Given the description of an element on the screen output the (x, y) to click on. 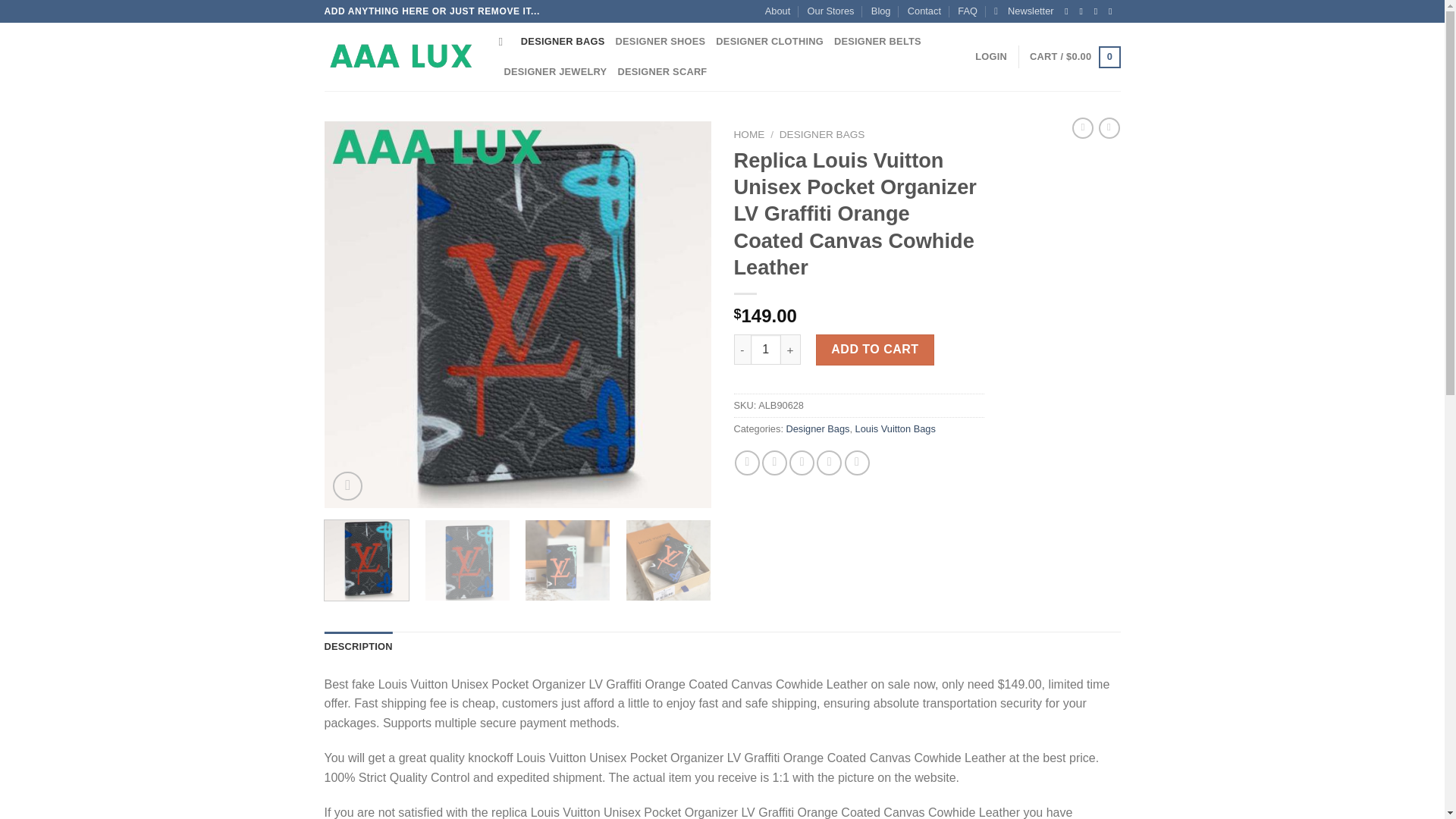
Our Stores (831, 11)
About (777, 11)
Cart (1074, 57)
AAA Lux - Explore Affordable Replica Designer Products (400, 57)
DESIGNER SCARF (661, 71)
LOGIN (991, 56)
Newsletter (1023, 11)
DESIGNER SHOES (660, 41)
DESIGNER BAGS (563, 41)
